Given the description of an element on the screen output the (x, y) to click on. 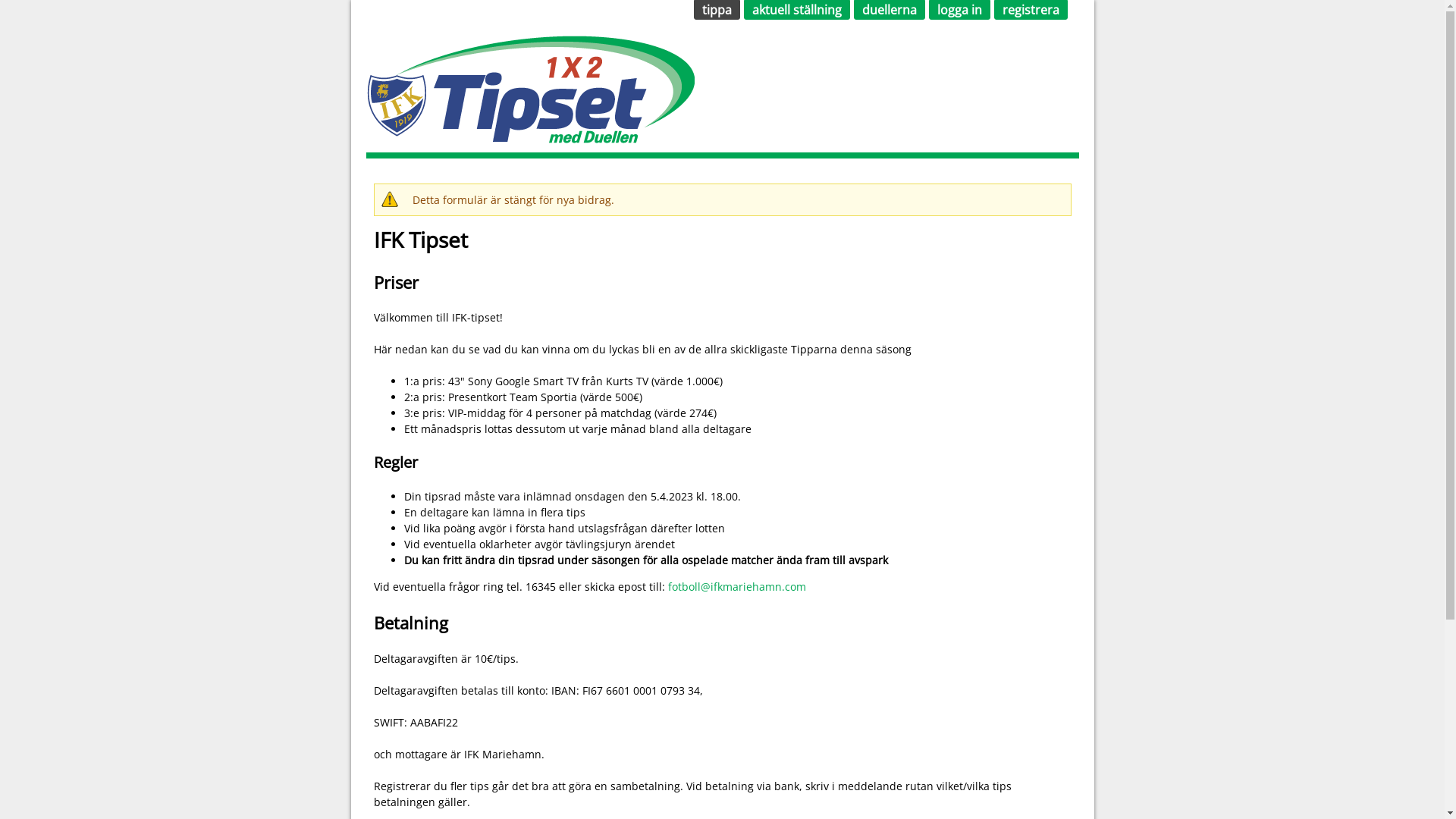
Hemsida Element type: hover (529, 136)
fotboll@ifkmariehamn.com Element type: text (736, 586)
